Given the description of an element on the screen output the (x, y) to click on. 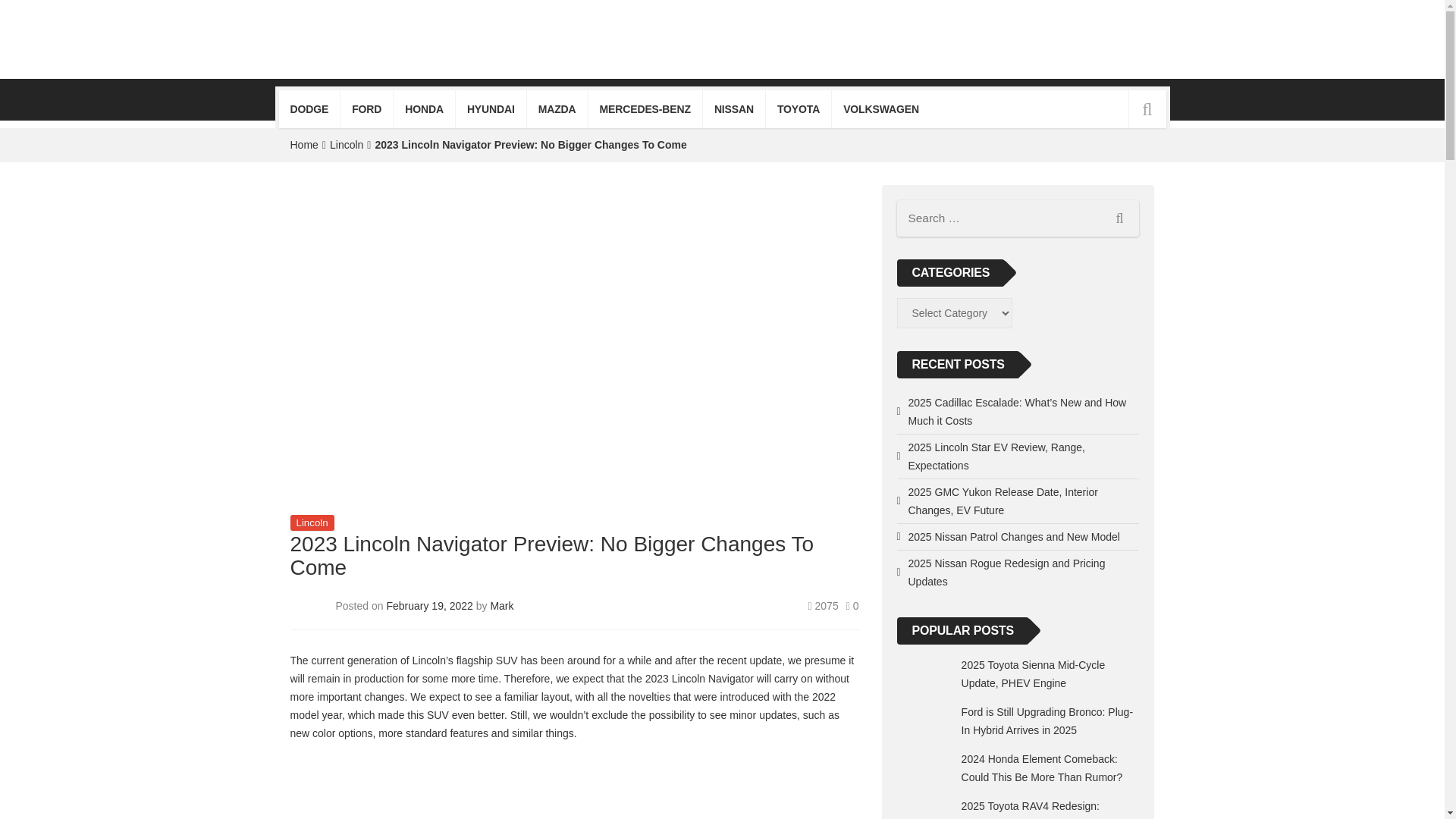
NISSAN (734, 108)
MERCEDES-BENZ (644, 108)
Search for: (1017, 217)
FORD (366, 108)
DODGE (309, 108)
VOLKSWAGEN (880, 108)
HONDA (423, 108)
February 19, 2022 (430, 604)
Home (303, 144)
Advertisement (574, 786)
